Given the description of an element on the screen output the (x, y) to click on. 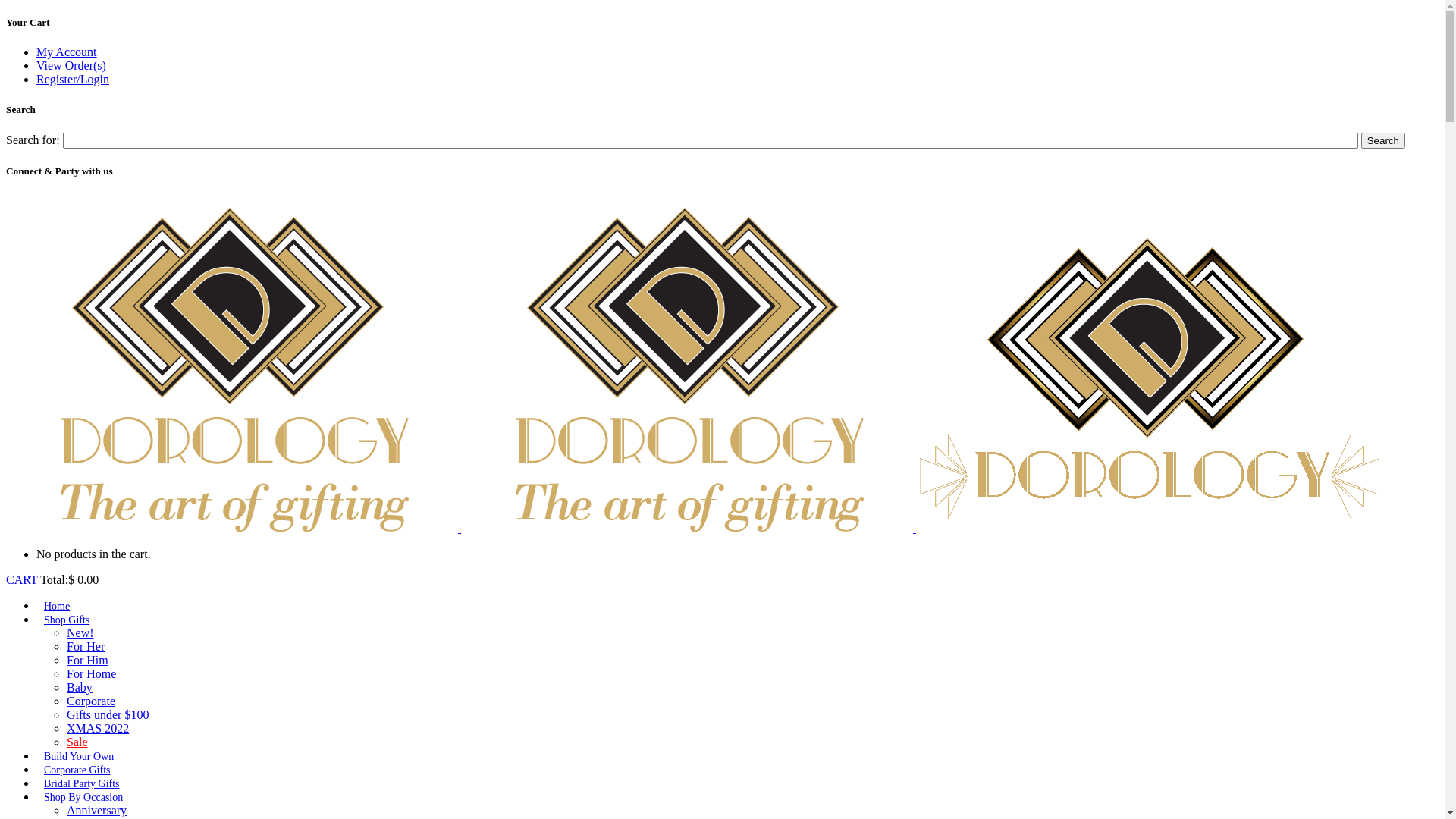
CART Element type: text (23, 579)
Register/Login Element type: text (72, 78)
For Her Element type: text (85, 646)
Shop Gifts Element type: text (66, 619)
For Home Element type: text (91, 673)
Shop By Occasion Element type: text (83, 797)
XMAS 2022 Element type: text (97, 727)
New! Element type: text (80, 632)
Corporate Element type: text (90, 700)
My Account Element type: text (66, 51)
Bridal Party Gifts Element type: text (81, 783)
Sale Element type: text (76, 741)
Baby Element type: text (79, 686)
View Order(s) Element type: text (71, 65)
Search Element type: text (1383, 140)
For Him Element type: text (87, 659)
Corporate Gifts Element type: text (76, 769)
Home Element type: text (56, 605)
Build Your Own Element type: text (78, 756)
Anniversary Element type: text (96, 809)
Gifts under $100 Element type: text (107, 714)
